Given the description of an element on the screen output the (x, y) to click on. 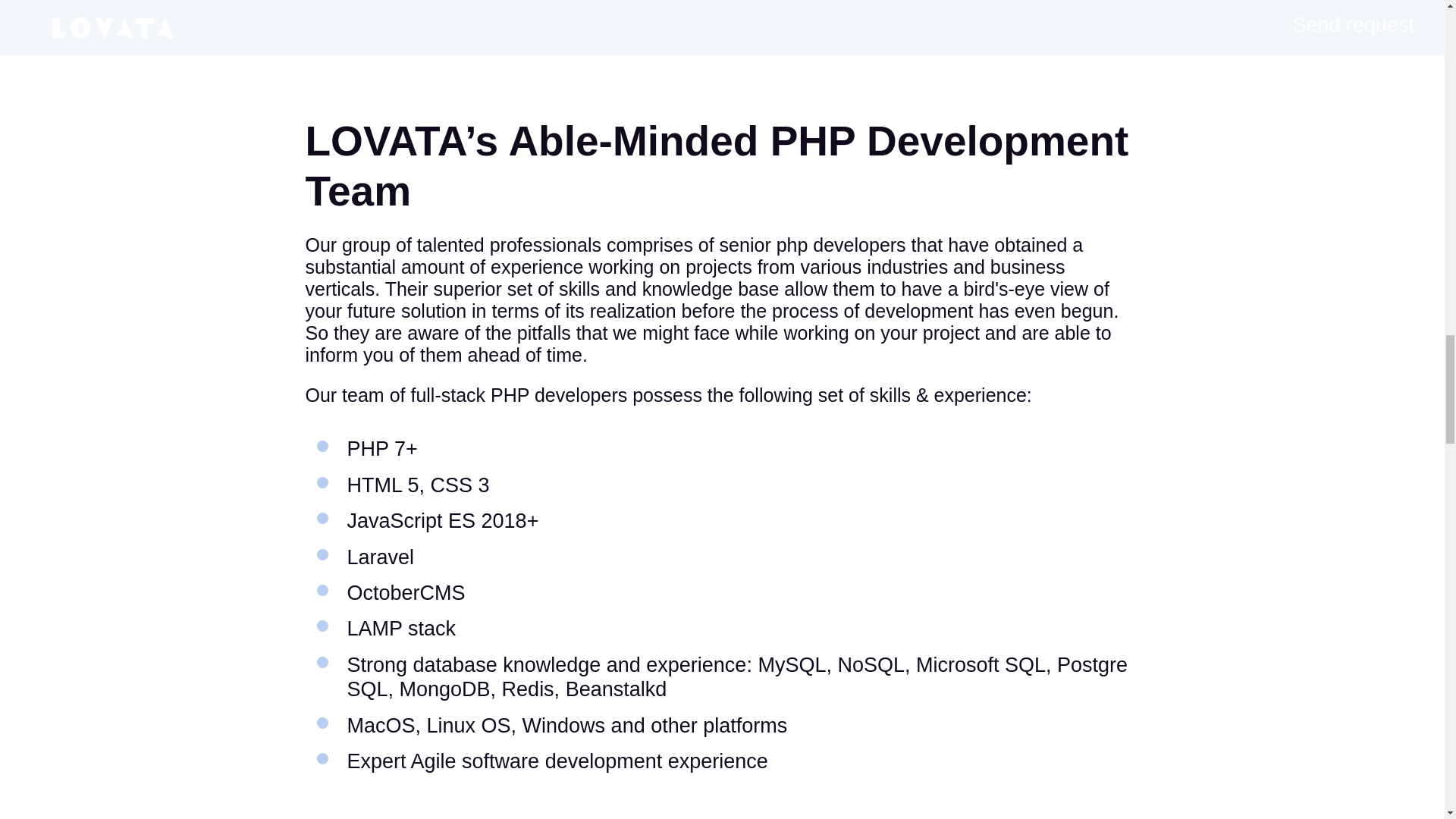
Laravel (380, 557)
OctoberCMS (406, 592)
